Given the description of an element on the screen output the (x, y) to click on. 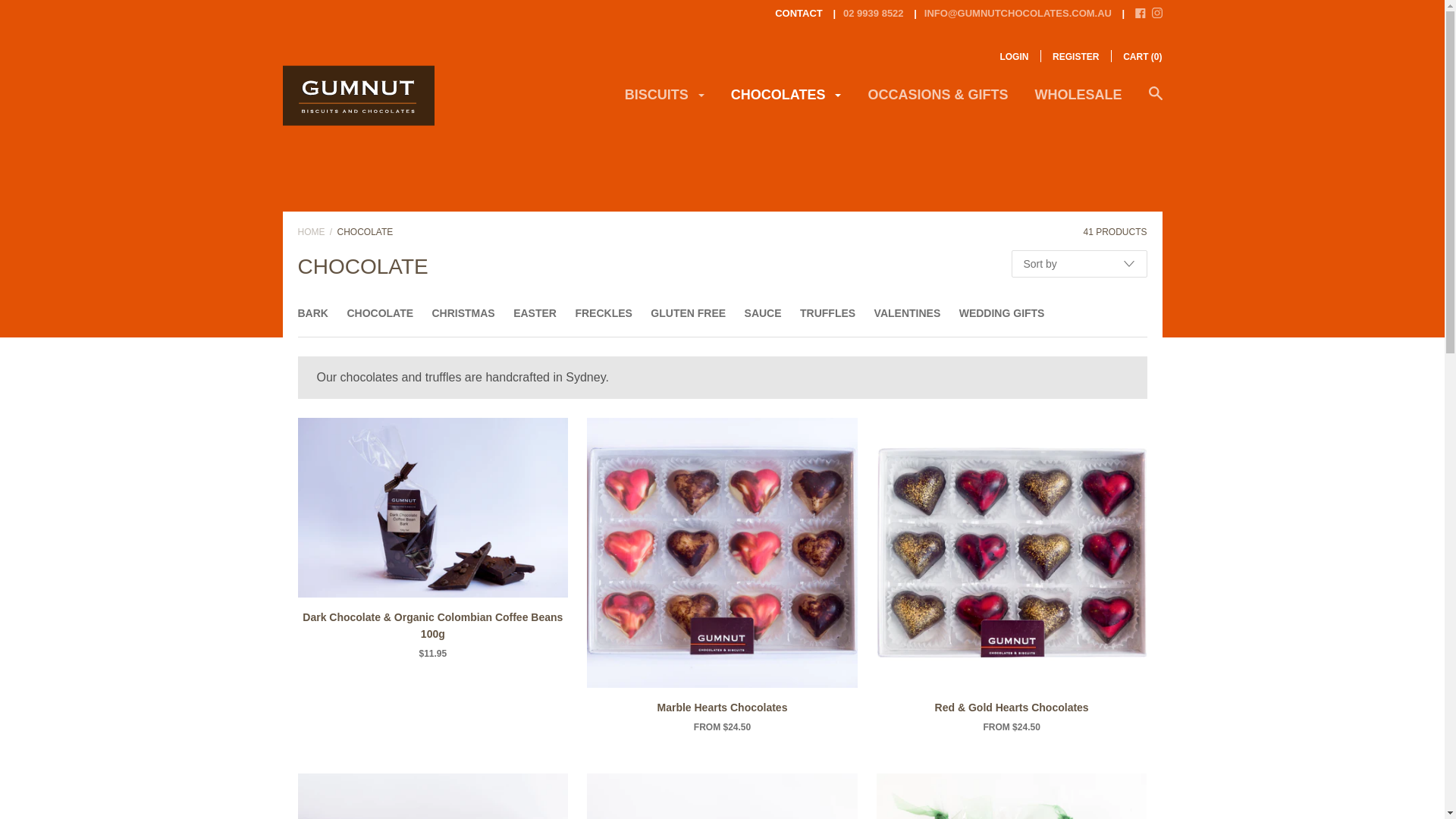
Marble Hearts Chocolates Element type: text (721, 707)
CHOCOLATE Element type: text (379, 313)
GLUTEN FREE Element type: text (687, 313)
REGISTER Element type: text (1075, 56)
BISCUITS Element type: text (664, 100)
Facebook Element type: text (1140, 14)
INFO@GUMNUTCHOCOLATES.COM.AU Element type: text (1008, 13)
Red & Gold Hearts Chocolates Element type: text (1011, 707)
Instagram Element type: text (1156, 14)
CHOCOLATES Element type: text (786, 100)
LOGIN Element type: text (1013, 56)
CHRISTMAS Element type: text (462, 313)
HOME Element type: text (310, 231)
TRUFFLES Element type: text (827, 313)
VALENTINES Element type: text (907, 313)
EASTER Element type: text (534, 313)
FRECKLES Element type: text (602, 313)
OCCASIONS & GIFTS Element type: text (937, 100)
WEDDING GIFTS Element type: text (1001, 313)
SAUCE Element type: text (762, 313)
Artboard 1 Element type: text (357, 136)
Search Element type: hover (1154, 100)
BARK Element type: text (312, 313)
WHOLESALE Element type: text (1077, 100)
CART (0) Element type: text (1142, 56)
Dark Chocolate & Organic Colombian Coffee Beans 100g Element type: text (432, 625)
